Given the description of an element on the screen output the (x, y) to click on. 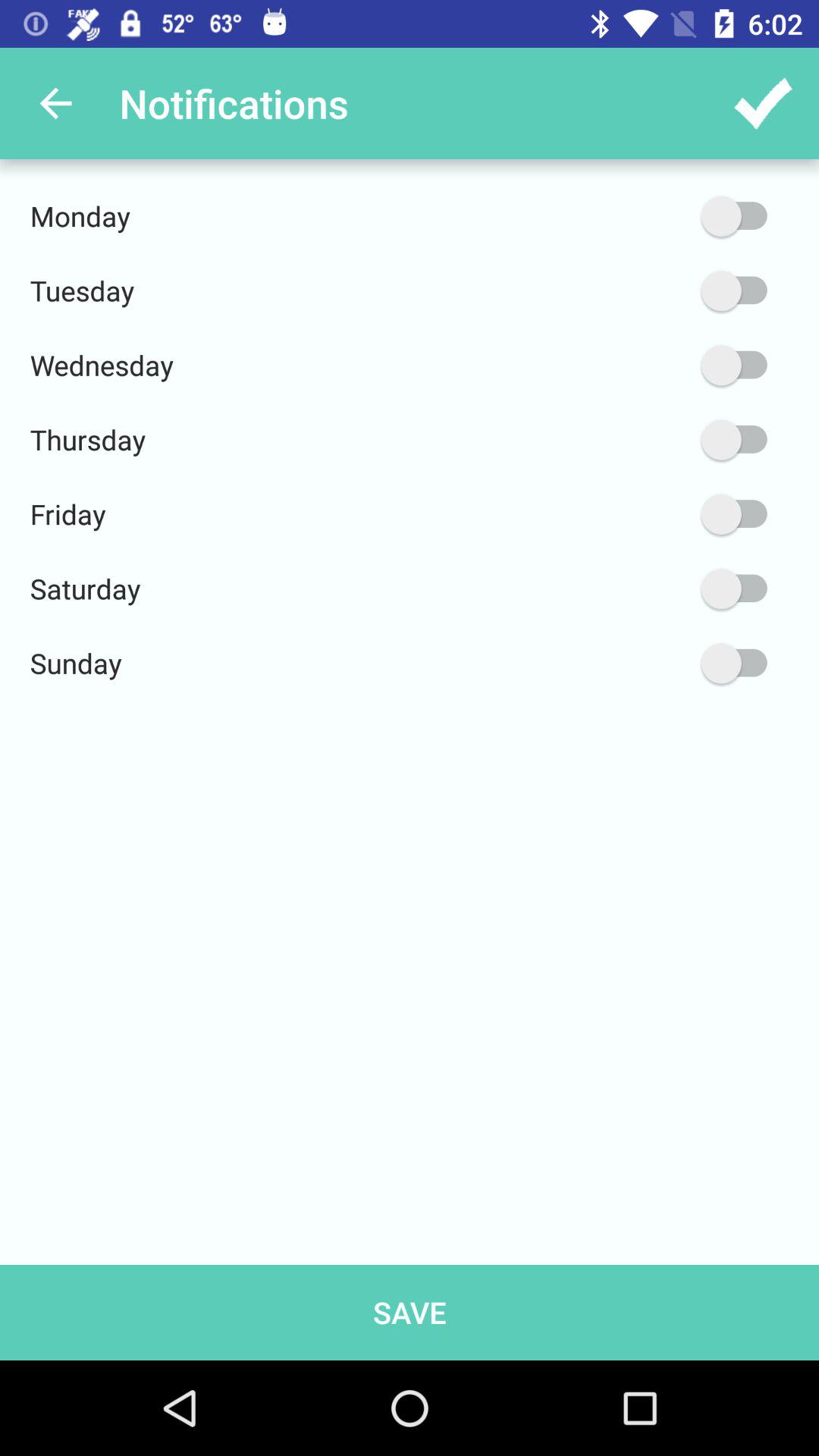
switch on tuesday (661, 290)
